Given the description of an element on the screen output the (x, y) to click on. 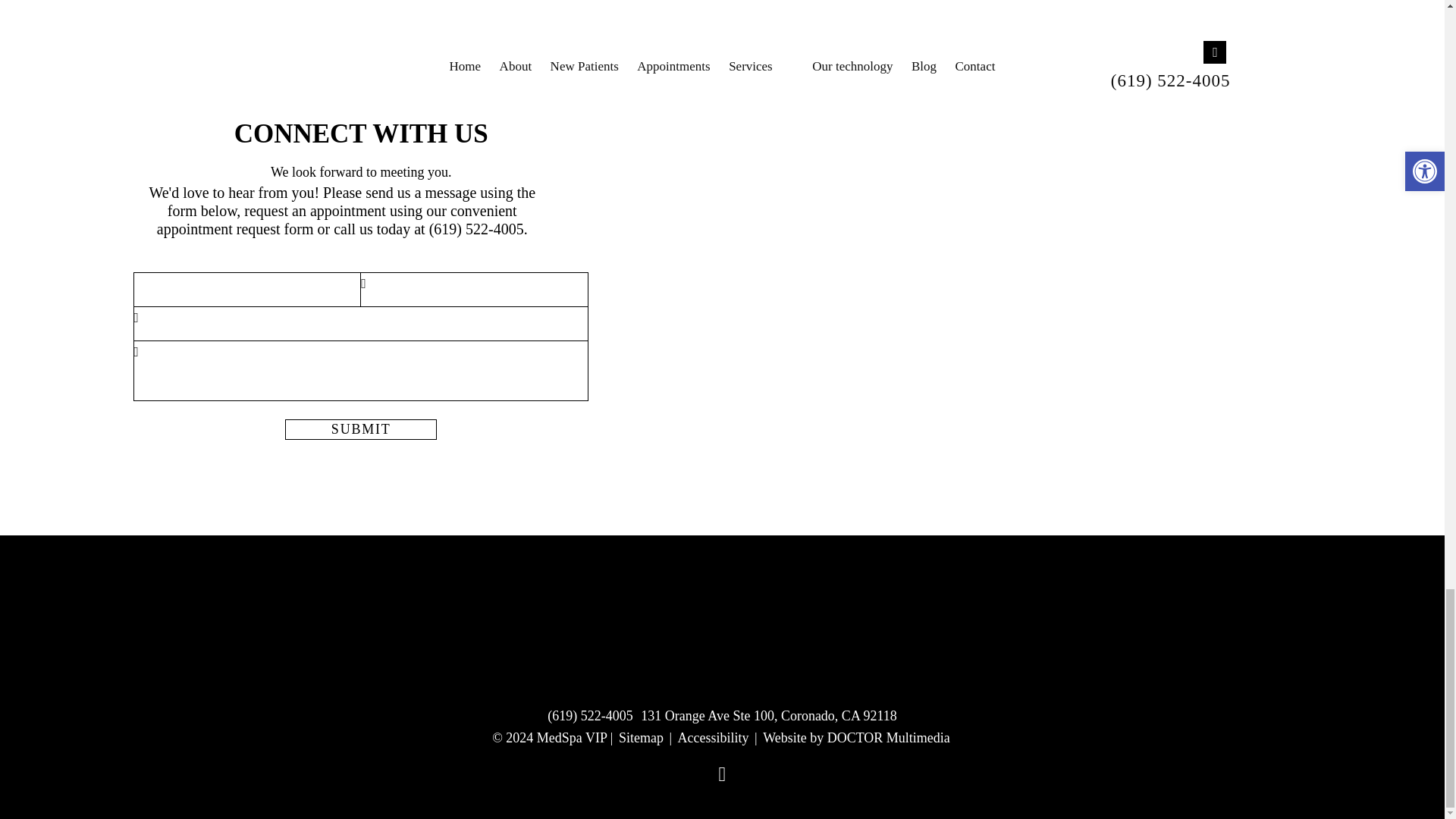
Submit (360, 429)
